Given the description of an element on the screen output the (x, y) to click on. 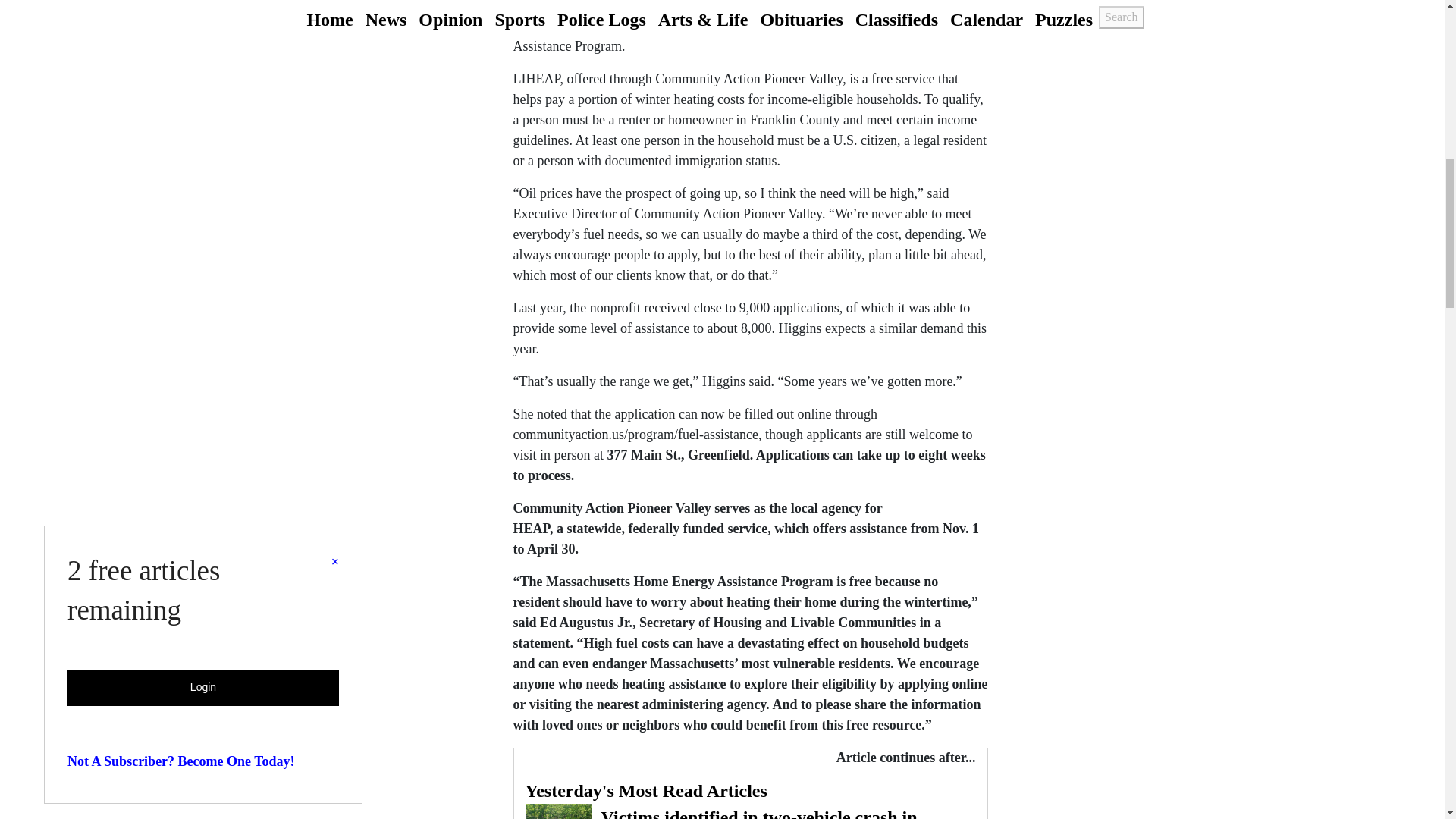
Victims identified in two-vehicle crash in Royalston (750, 811)
